Given the description of an element on the screen output the (x, y) to click on. 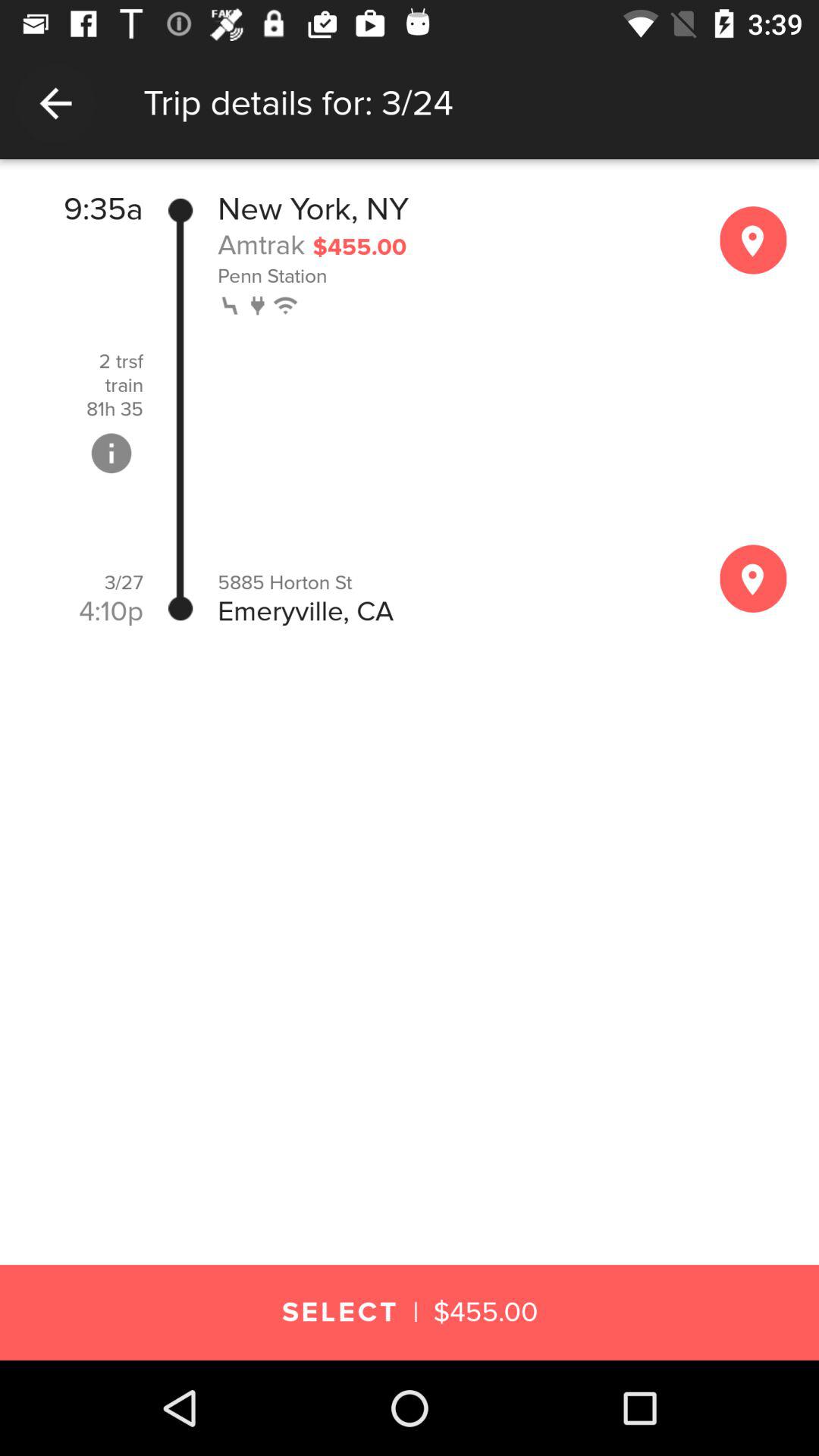
launch icon to the right of the 9:35a icon (180, 409)
